Given the description of an element on the screen output the (x, y) to click on. 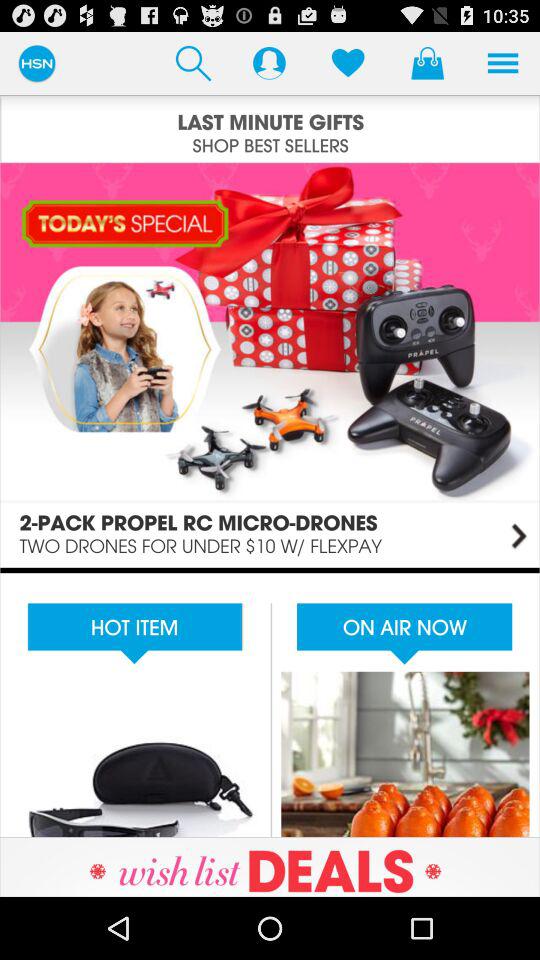
login to your account (269, 62)
